Given the description of an element on the screen output the (x, y) to click on. 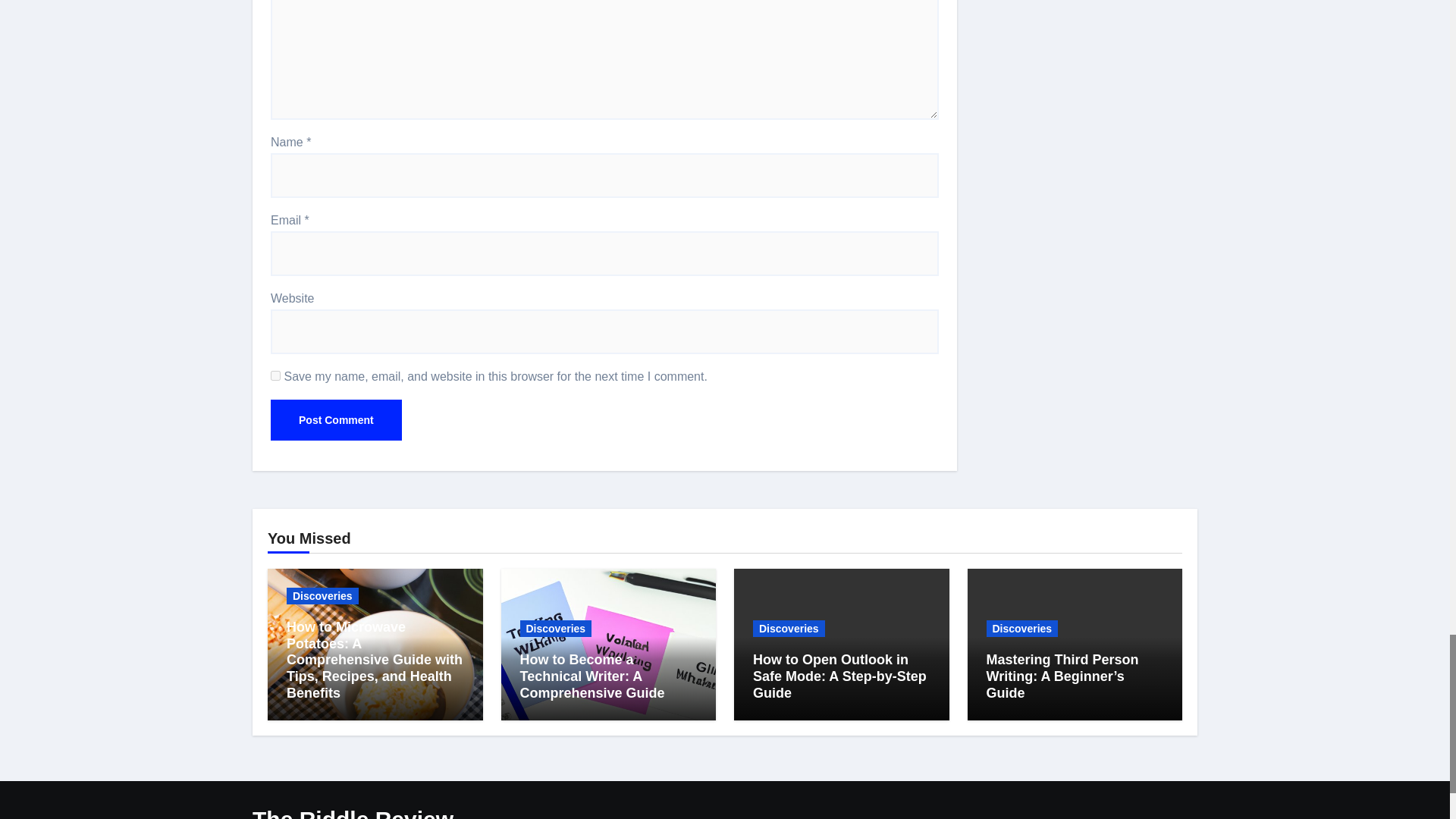
yes (275, 375)
Post Comment (335, 419)
